Given the description of an element on the screen output the (x, y) to click on. 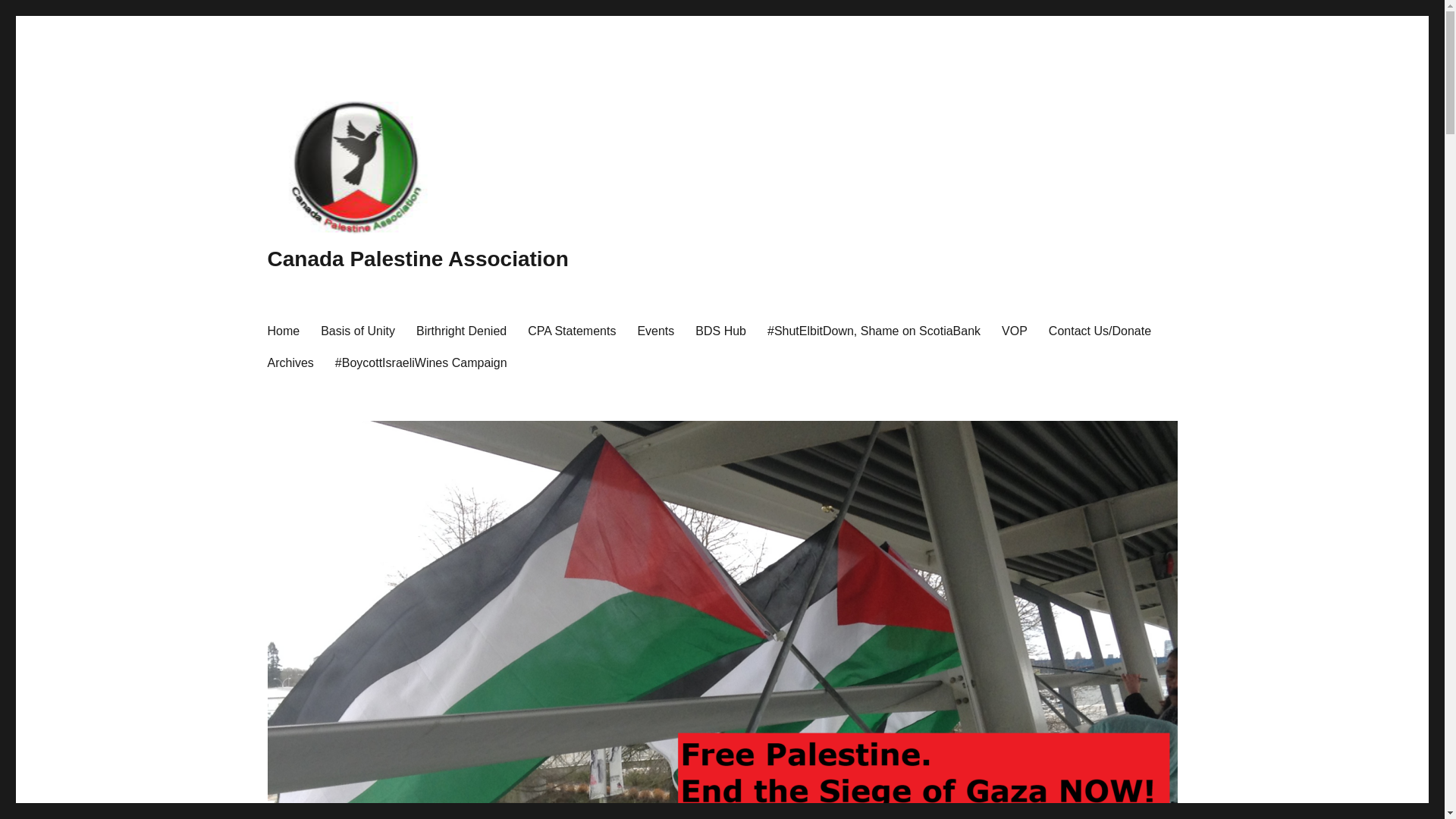
BDS Hub (720, 330)
VOP (1014, 330)
Canada Palestine Association (416, 259)
Basis of Unity (358, 330)
Birthright Denied (461, 330)
Archives (289, 362)
basis-of-unity (358, 330)
Events (655, 330)
CPA Statements (571, 330)
Home (283, 330)
